Given the description of an element on the screen output the (x, y) to click on. 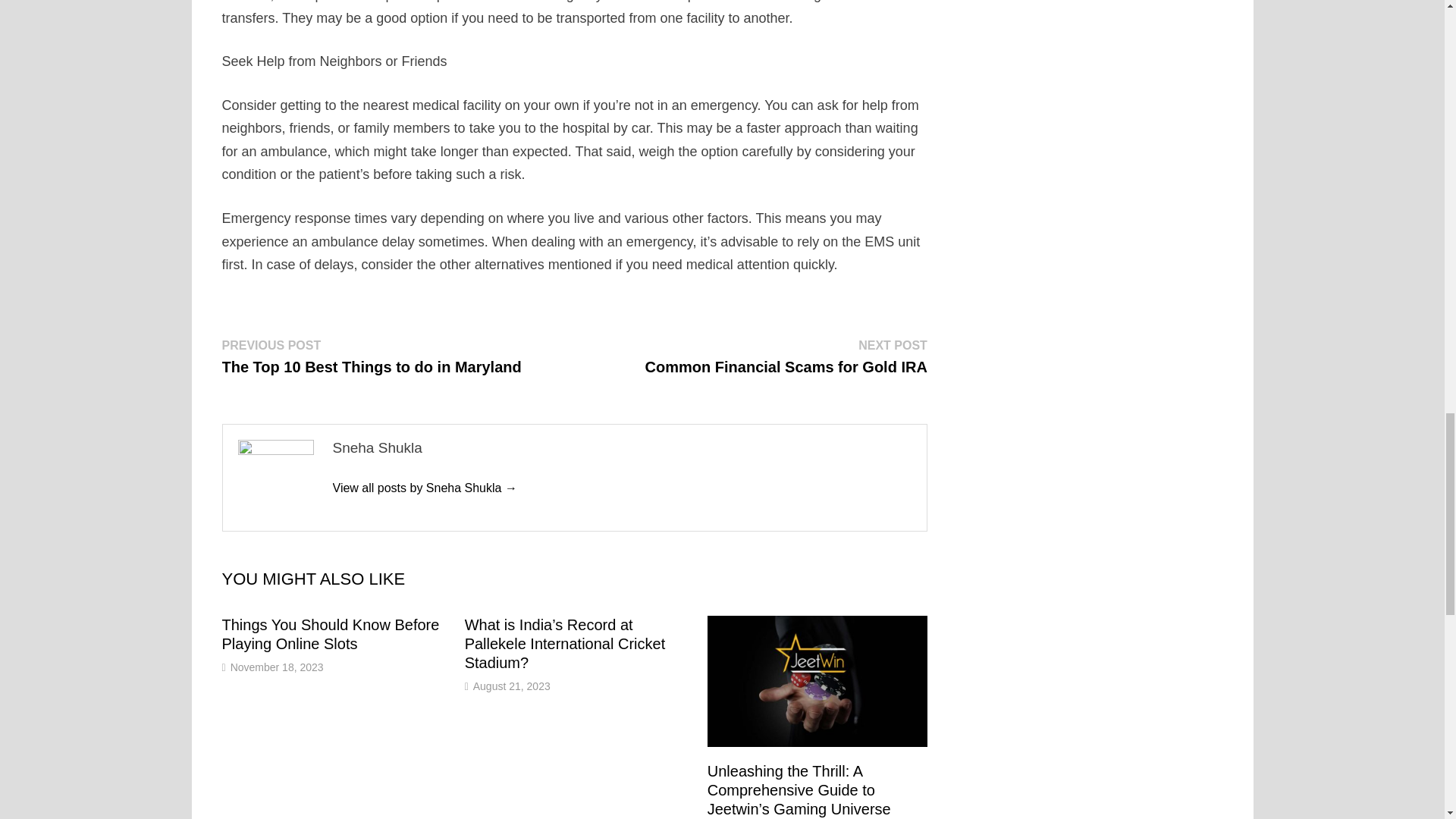
Sneha Shukla (423, 487)
Things You Should Know Before Playing Online Slots (330, 633)
